Given the description of an element on the screen output the (x, y) to click on. 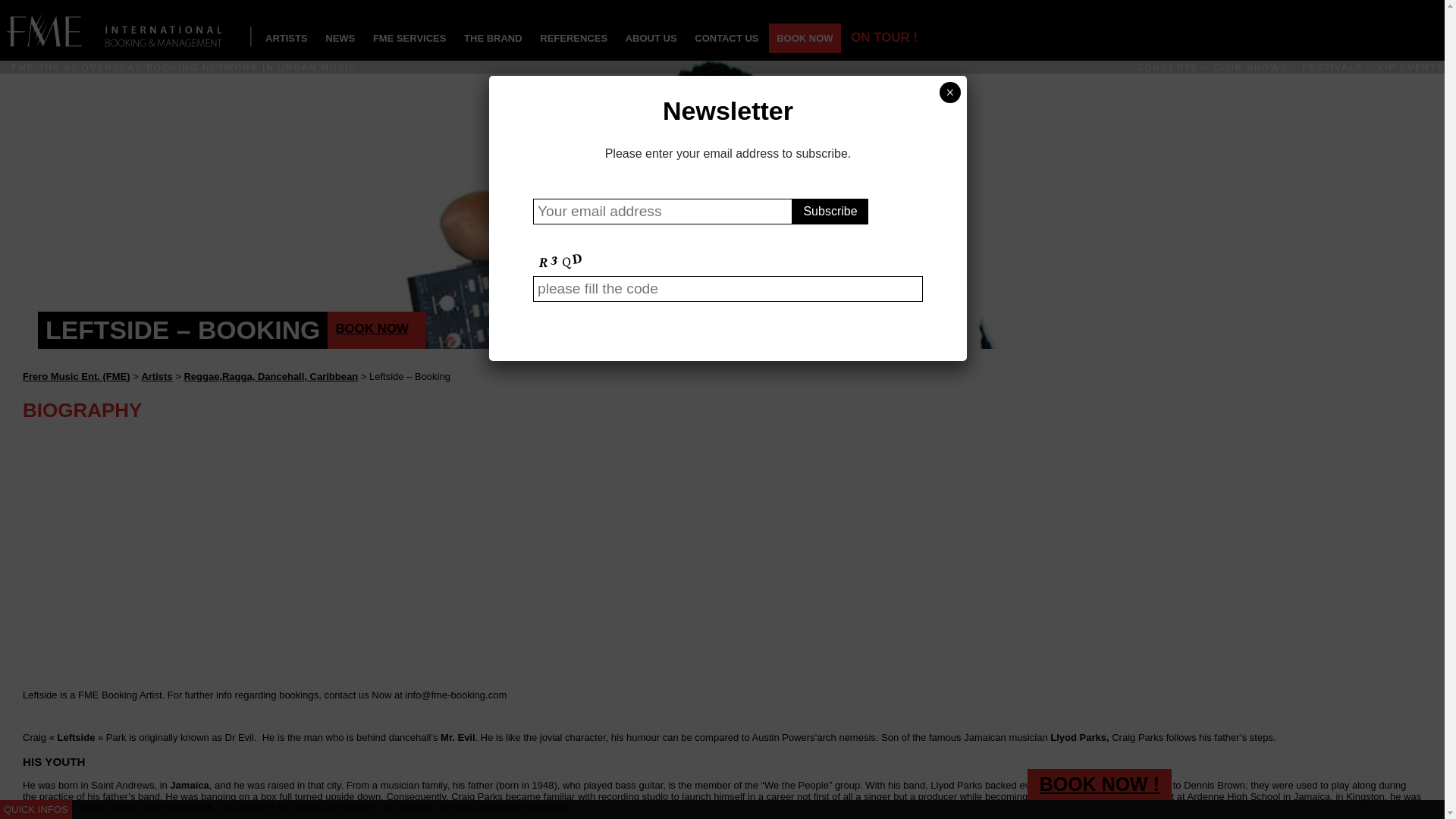
NEWS (339, 38)
THE BRAND (493, 38)
BOOK NOW ! (1099, 784)
ARTISTS (286, 38)
Artists (156, 376)
Subscribe (829, 211)
ABOUT US (650, 38)
Subscribe (829, 211)
Reggae,Ragga, Dancehall, Caribbean (270, 376)
CONTACT US (726, 38)
ON TOUR ! (883, 37)
FME SERVICES (409, 38)
REFERENCES (573, 38)
BOOK NOW (804, 38)
BOOK NOW (376, 330)
